Given the description of an element on the screen output the (x, y) to click on. 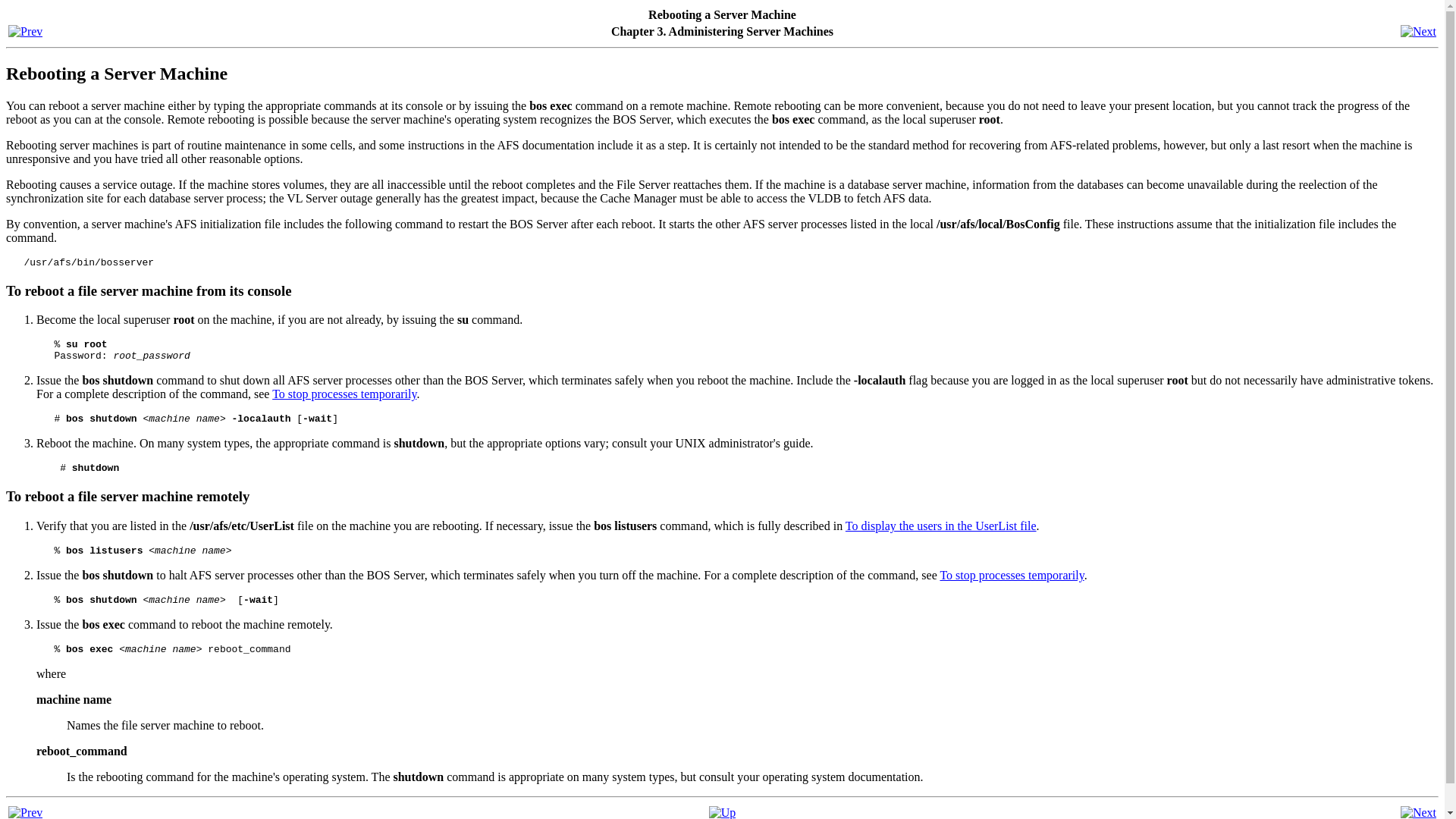
To stop processes temporarily (1011, 574)
To display the users in the UserList file (940, 525)
To stop processes temporarily (344, 393)
To display the users in the UserList file (940, 525)
To stop processes temporarily (1011, 574)
To stop processes temporarily (344, 393)
